Given the description of an element on the screen output the (x, y) to click on. 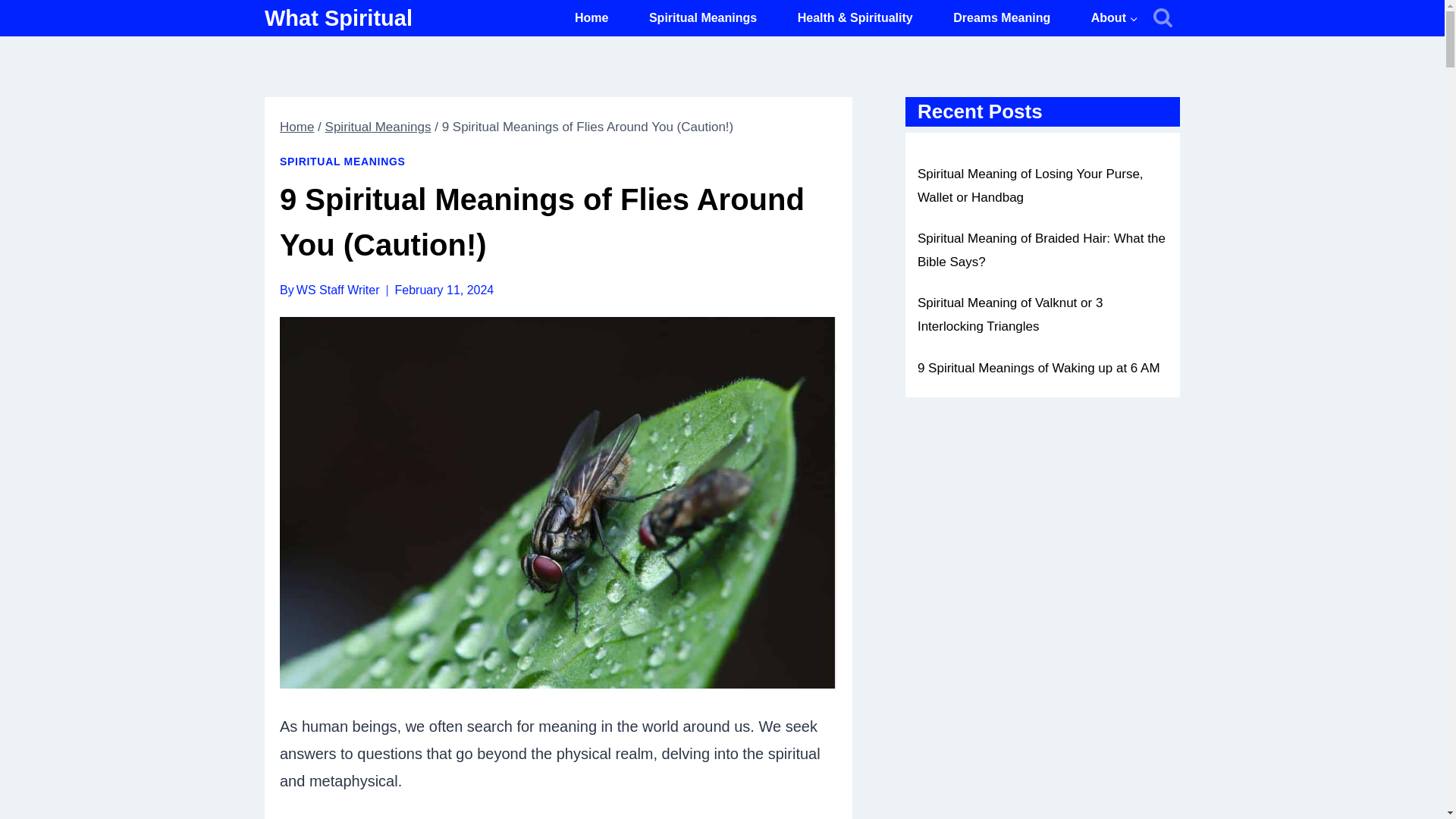
Home (591, 18)
What Spiritual (338, 17)
Home (296, 126)
SPIRITUAL MEANINGS (342, 161)
WS Staff Writer (338, 289)
Spiritual Meanings (703, 18)
About (1114, 18)
Dreams Meaning (1001, 18)
Spiritual Meanings (377, 126)
